Given the description of an element on the screen output the (x, y) to click on. 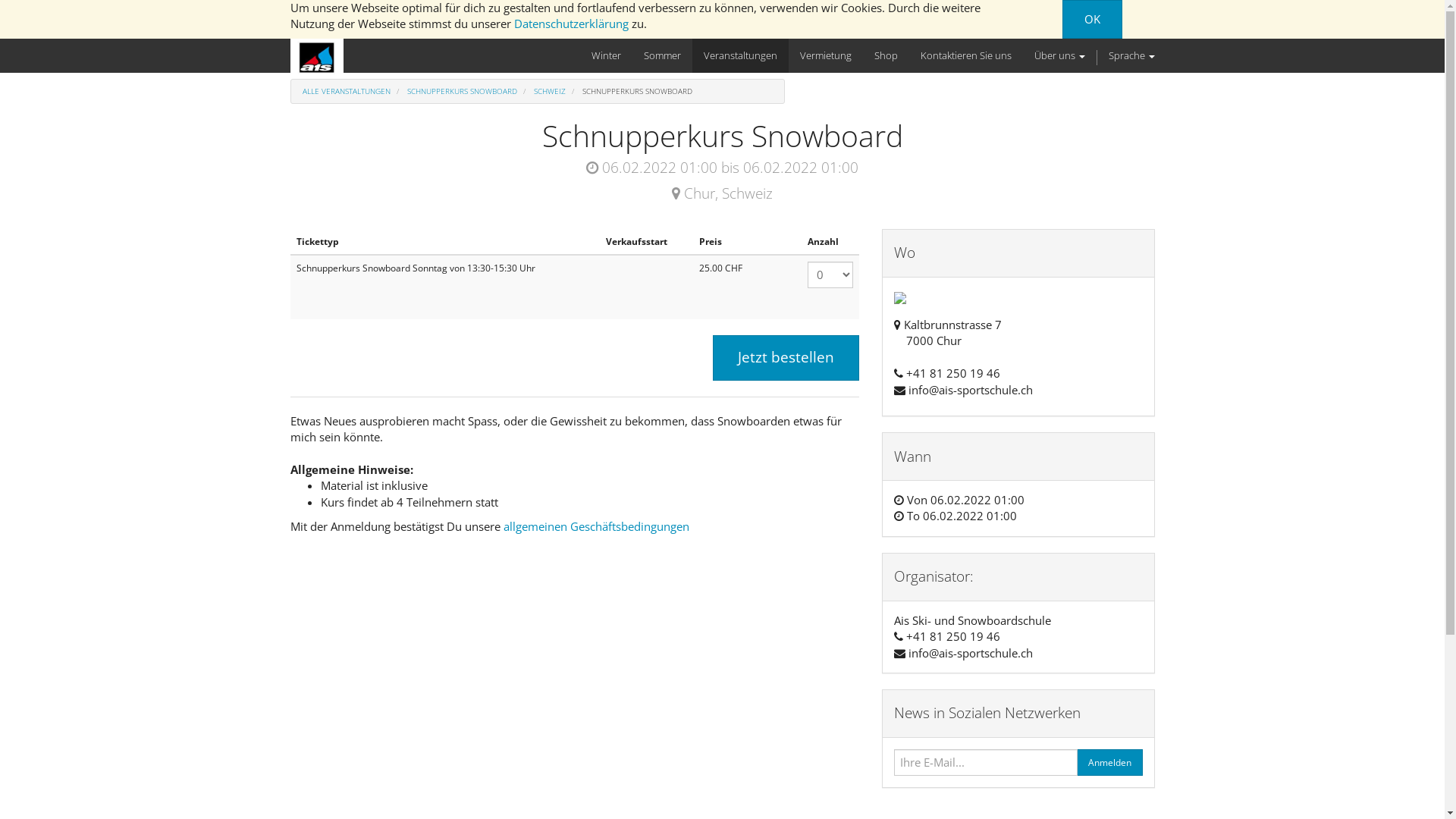
Kontaktieren Sie uns Element type: text (965, 55)
Shop Element type: text (885, 55)
SCHWEIZ Element type: text (549, 90)
Sommer Element type: text (662, 55)
Ais Ski- und Snowboardschule Element type: hover (315, 57)
ALLE VERANSTALTUNGEN Element type: text (345, 90)
Vermietung Element type: text (825, 55)
OK Element type: text (1091, 19)
Veranstaltungen Element type: text (739, 55)
Anmelden Element type: text (1109, 762)
Jetzt bestellen Element type: text (785, 357)
SCHNUPPERKURS SNOWBOARD Element type: text (461, 90)
Sprache Element type: text (1130, 55)
Winter Element type: text (605, 55)
